Given the description of an element on the screen output the (x, y) to click on. 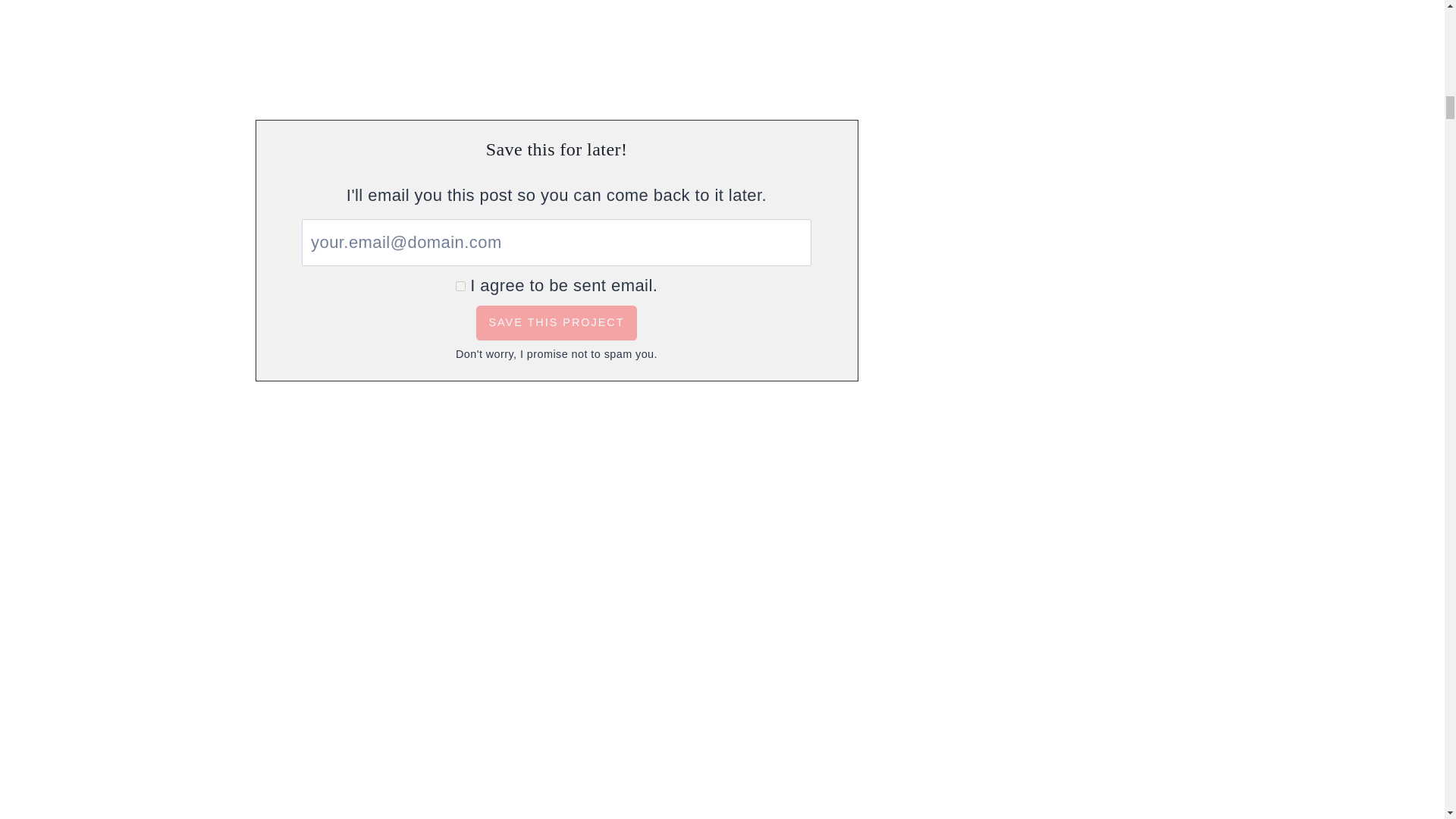
1 (460, 285)
Save This Project (556, 323)
Save This Project (556, 323)
